Given the description of an element on the screen output the (x, y) to click on. 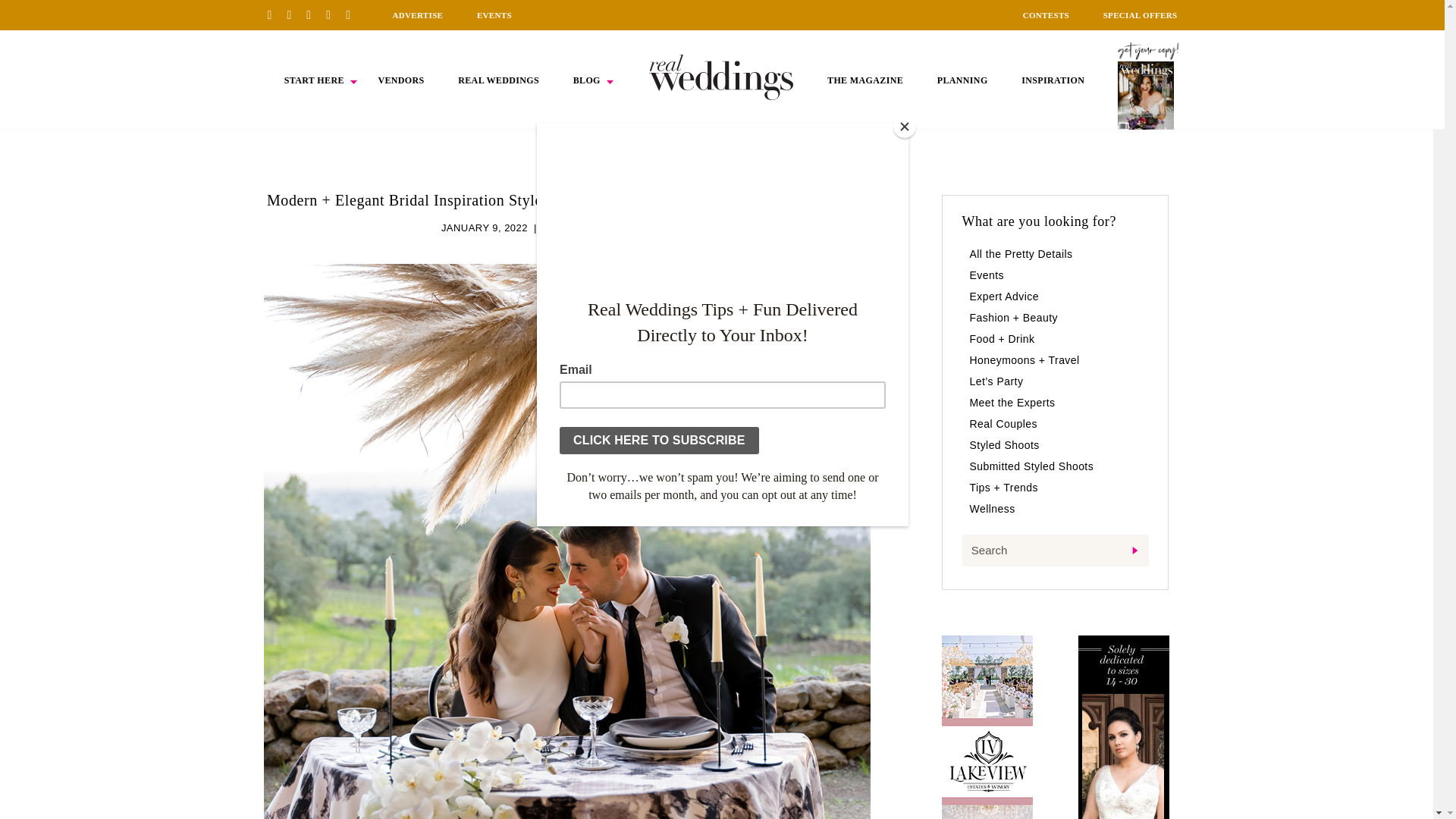
SPECIAL OFFERS (1140, 14)
VENDORS (400, 80)
THE MAGAZINE (864, 80)
Instagram (313, 14)
PLANNING (962, 80)
HOME (721, 76)
EVENTS (494, 14)
SUBMITTED STYLED SHOOTS (618, 227)
START HERE (313, 80)
Facebook (294, 14)
REAL WEDDINGS (498, 80)
INSPIRATION (1053, 80)
Twitter (334, 14)
CONTESTS (1045, 14)
Search (1054, 550)
